Given the description of an element on the screen output the (x, y) to click on. 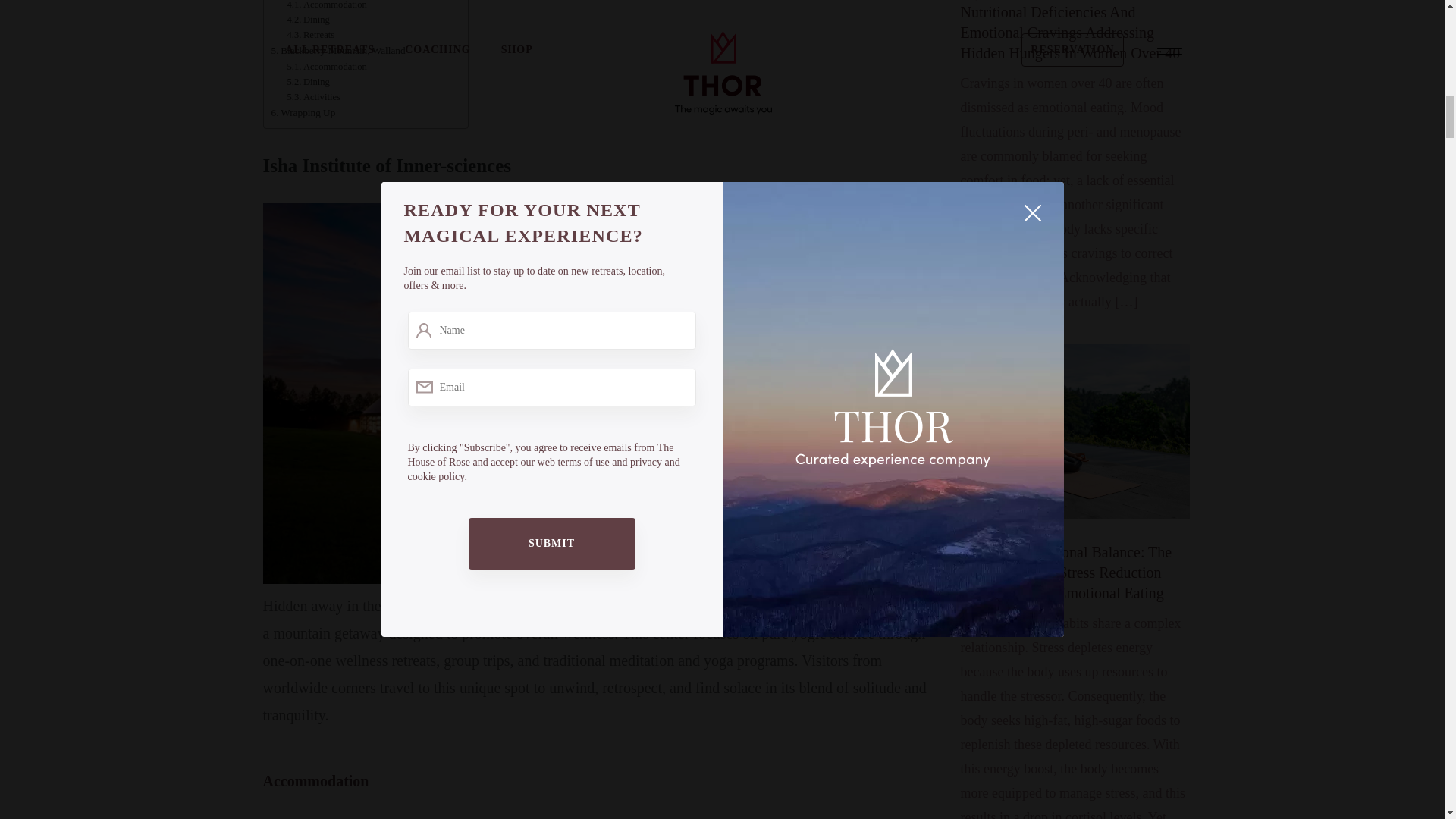
Accommodation (326, 6)
